Given the description of an element on the screen output the (x, y) to click on. 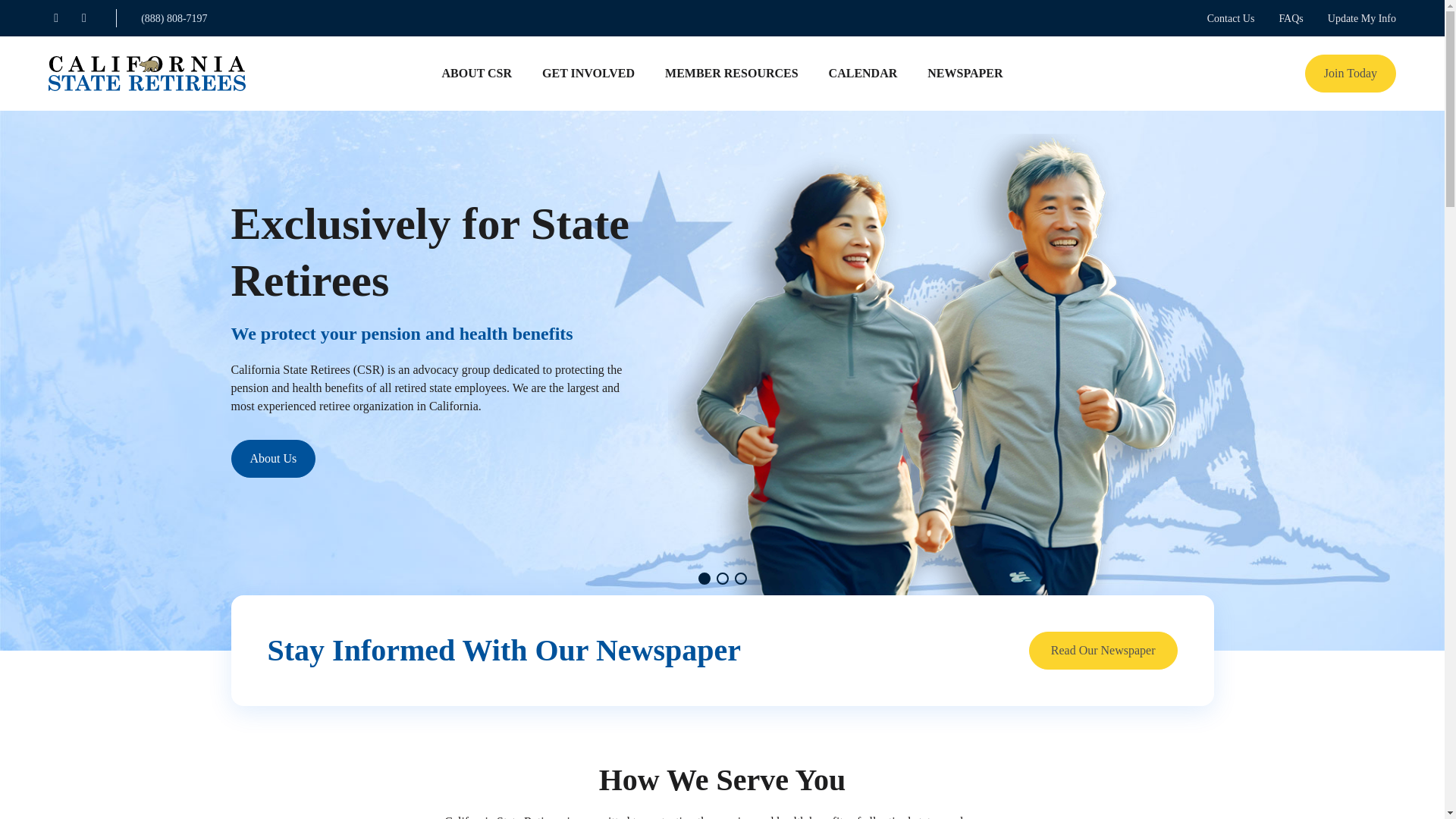
CALENDAR (862, 73)
MEMBER RESOURCES (731, 73)
California State Retirees (147, 73)
Update My Info (1361, 18)
NEWSPAPER (964, 73)
ABOUT CSR (476, 73)
Contact Us (1231, 18)
FAQs (1290, 18)
GET INVOLVED (588, 73)
